Given the description of an element on the screen output the (x, y) to click on. 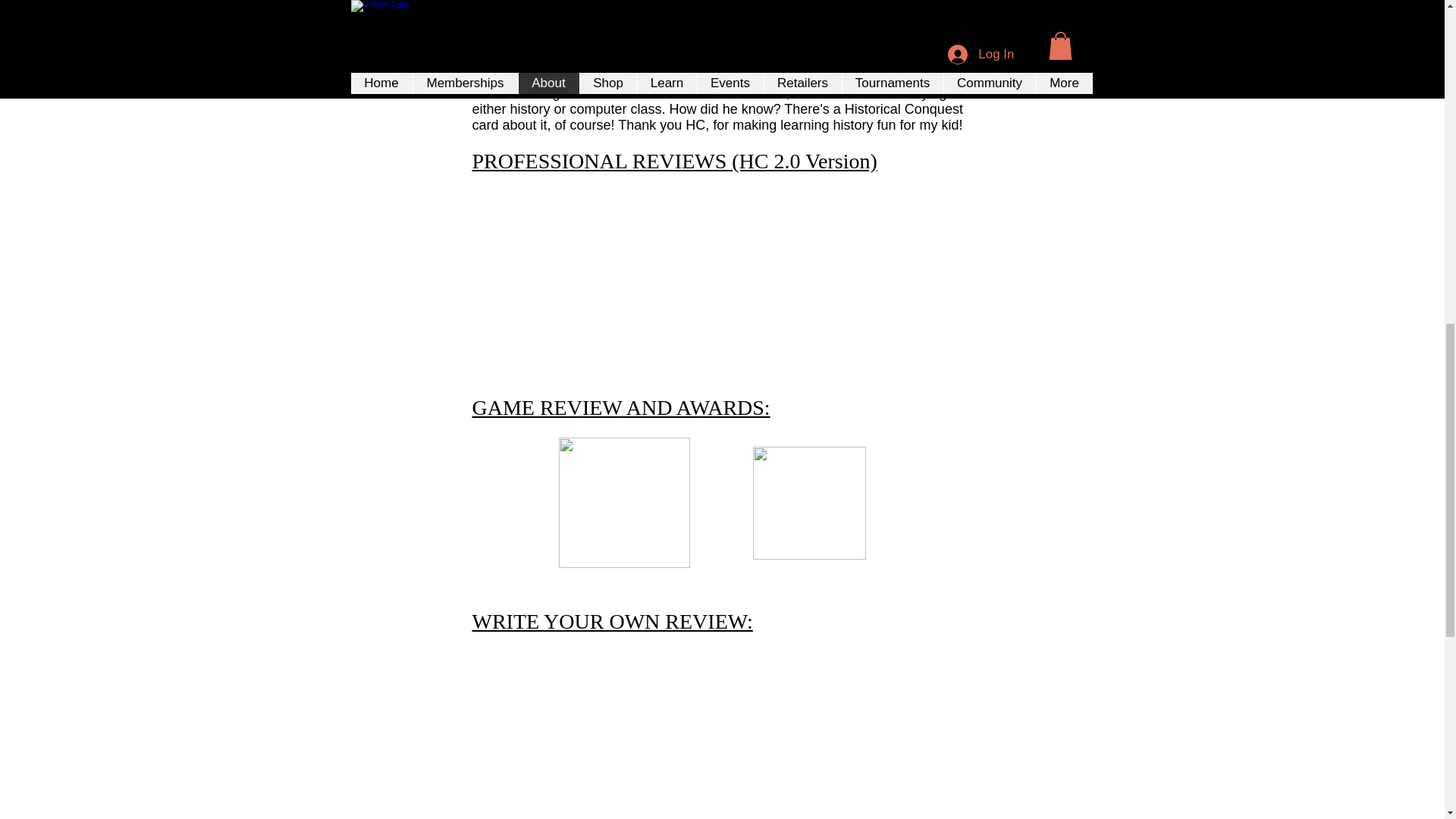
External YouTube (468, 273)
2014-FCA-Logo.png (622, 502)
game-of-the-year-2014.png (808, 502)
External YouTube (964, 273)
External YouTube (722, 273)
